Given the description of an element on the screen output the (x, y) to click on. 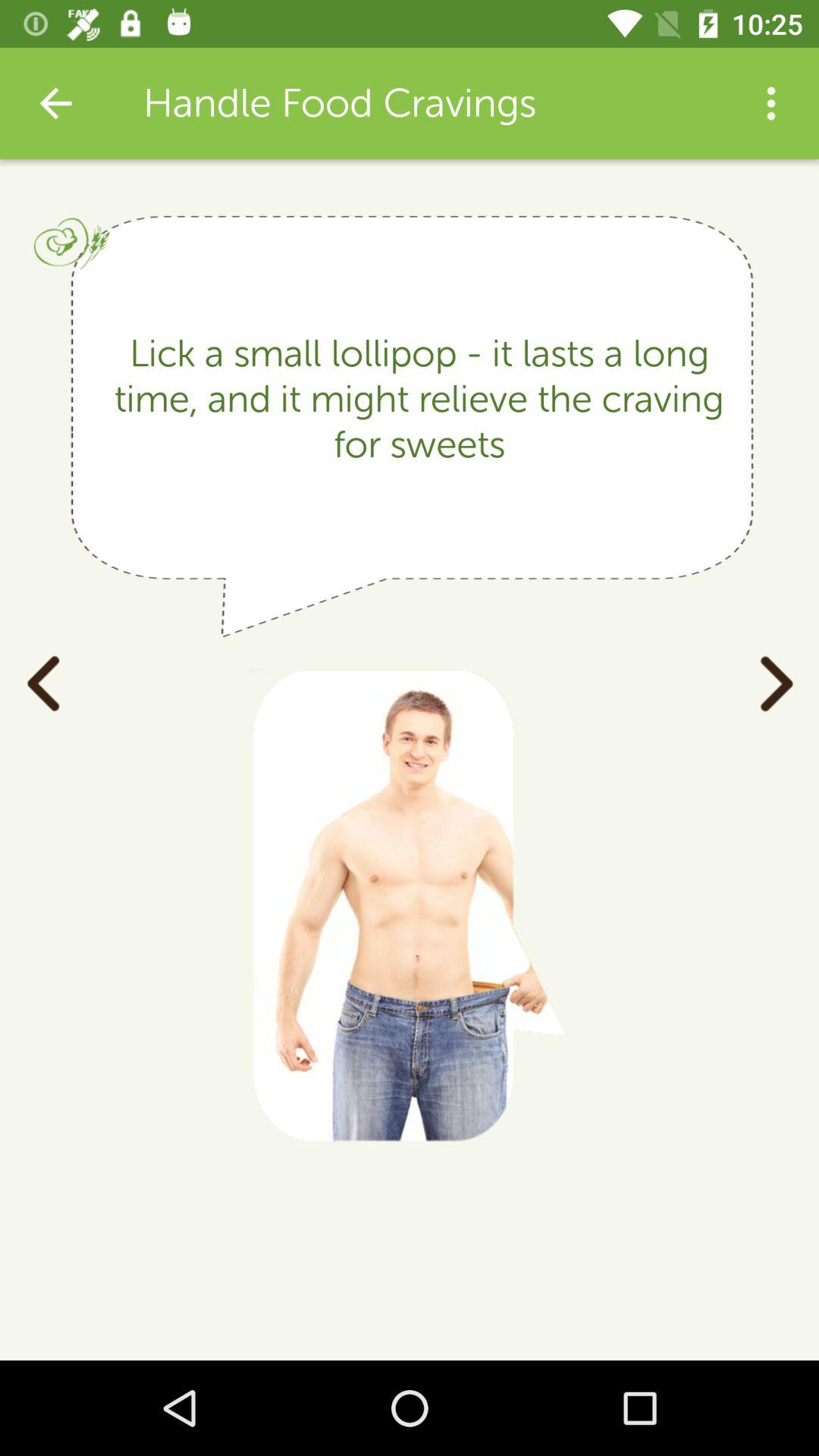
turn on app to the left of the handle food cravings item (55, 103)
